Given the description of an element on the screen output the (x, y) to click on. 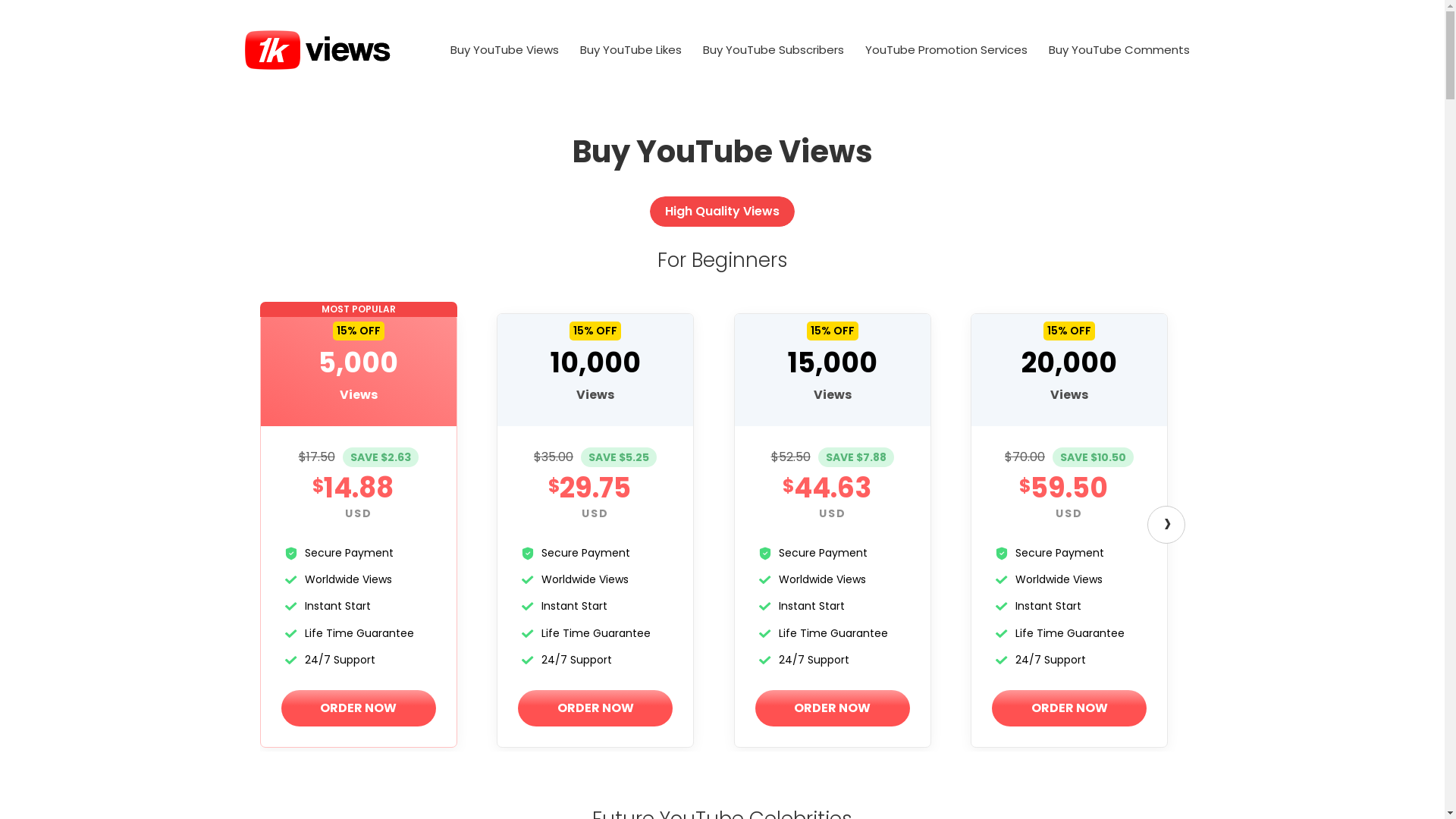
YouTube Promotion Services Element type: text (945, 49)
1kviews Element type: hover (316, 48)
ORDER NOW Element type: text (832, 708)
ORDER NOW Element type: text (357, 708)
Buy YouTube Comments Element type: text (1118, 49)
Buy YouTube Views Element type: text (504, 49)
1kviews Element type: hover (316, 49)
ORDER NOW Element type: text (1068, 708)
Buy YouTube Likes Element type: text (629, 49)
ORDER NOW Element type: text (594, 708)
Buy YouTube Subscribers Element type: text (772, 49)
